Given the description of an element on the screen output the (x, y) to click on. 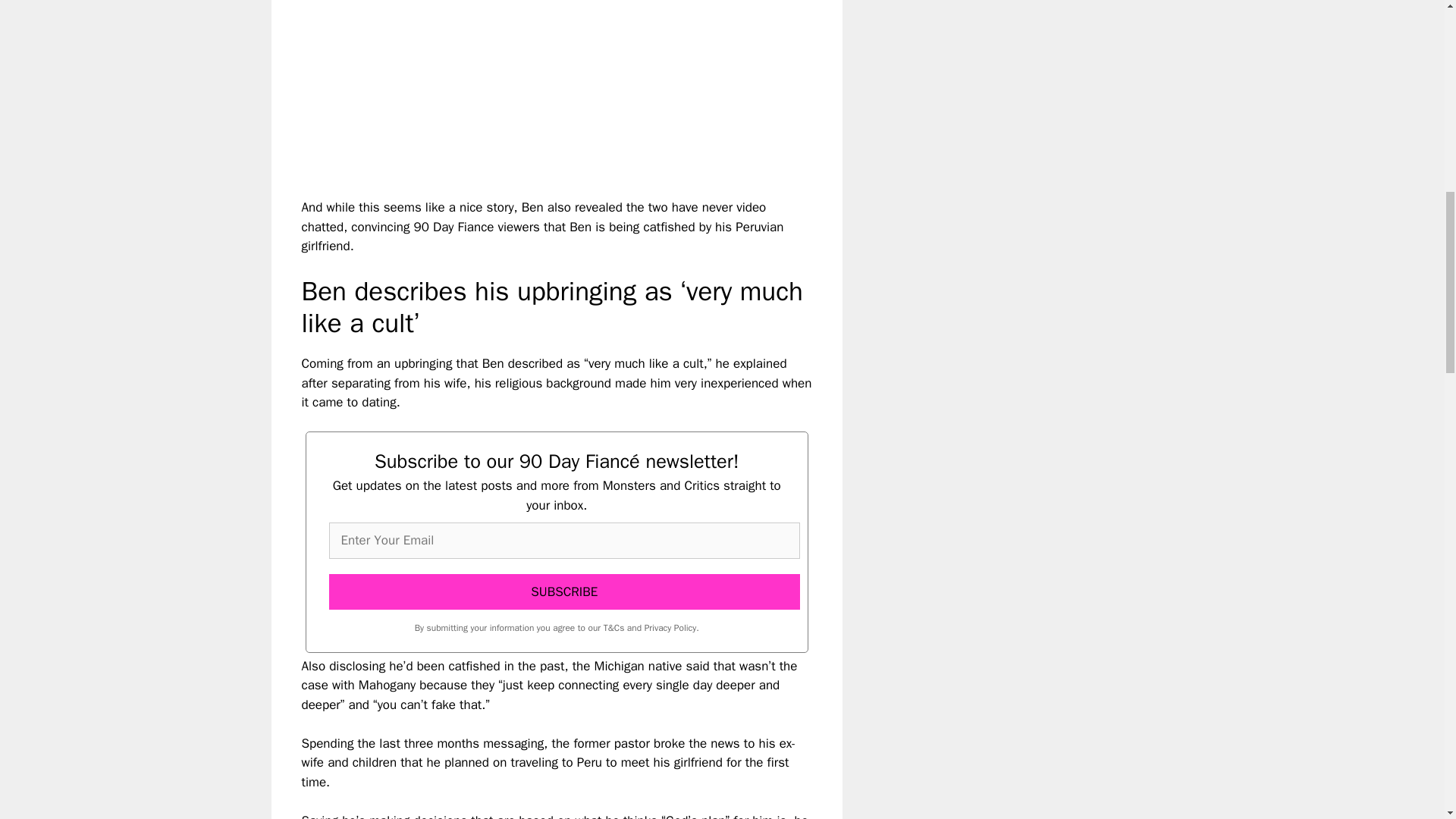
SUBSCRIBE (564, 592)
YouTube video player (513, 86)
SUBSCRIBE (564, 592)
